Given the description of an element on the screen output the (x, y) to click on. 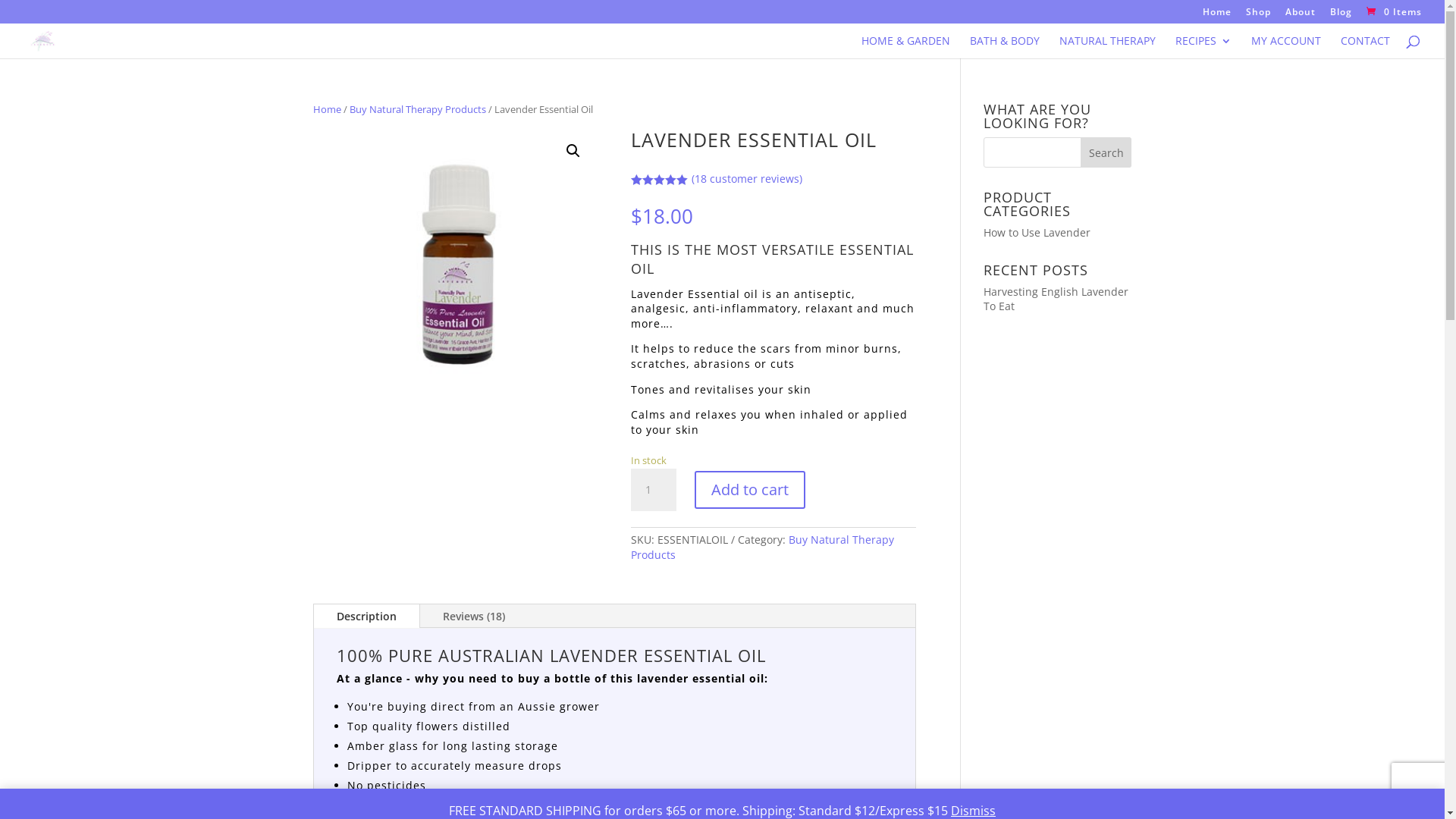
NATURAL THERAPY Element type: text (1107, 46)
Buy Natural Therapy Products Element type: text (416, 109)
MY ACCOUNT Element type: text (1286, 46)
HOME & GARDEN Element type: text (905, 46)
Home Element type: text (1216, 15)
0 Items Element type: text (1392, 11)
Shop Element type: text (1257, 15)
Add to cart Element type: text (749, 489)
Buy Natural Therapy Products Element type: text (762, 546)
RECIPES Element type: text (1203, 46)
How to Use Lavender Element type: text (1036, 232)
BATH & BODY Element type: text (1004, 46)
Home Element type: text (326, 109)
Description Element type: text (366, 616)
Blog Element type: text (1341, 15)
Mt Baimbridge Lavender Essential Oil Element type: hover (454, 268)
Harvesting English Lavender To Eat Element type: text (1055, 298)
About Element type: text (1300, 15)
Search Element type: text (1106, 152)
Reviews (18) Element type: text (473, 616)
(18 customer reviews) Element type: text (746, 178)
CONTACT Element type: text (1365, 46)
